Given the description of an element on the screen output the (x, y) to click on. 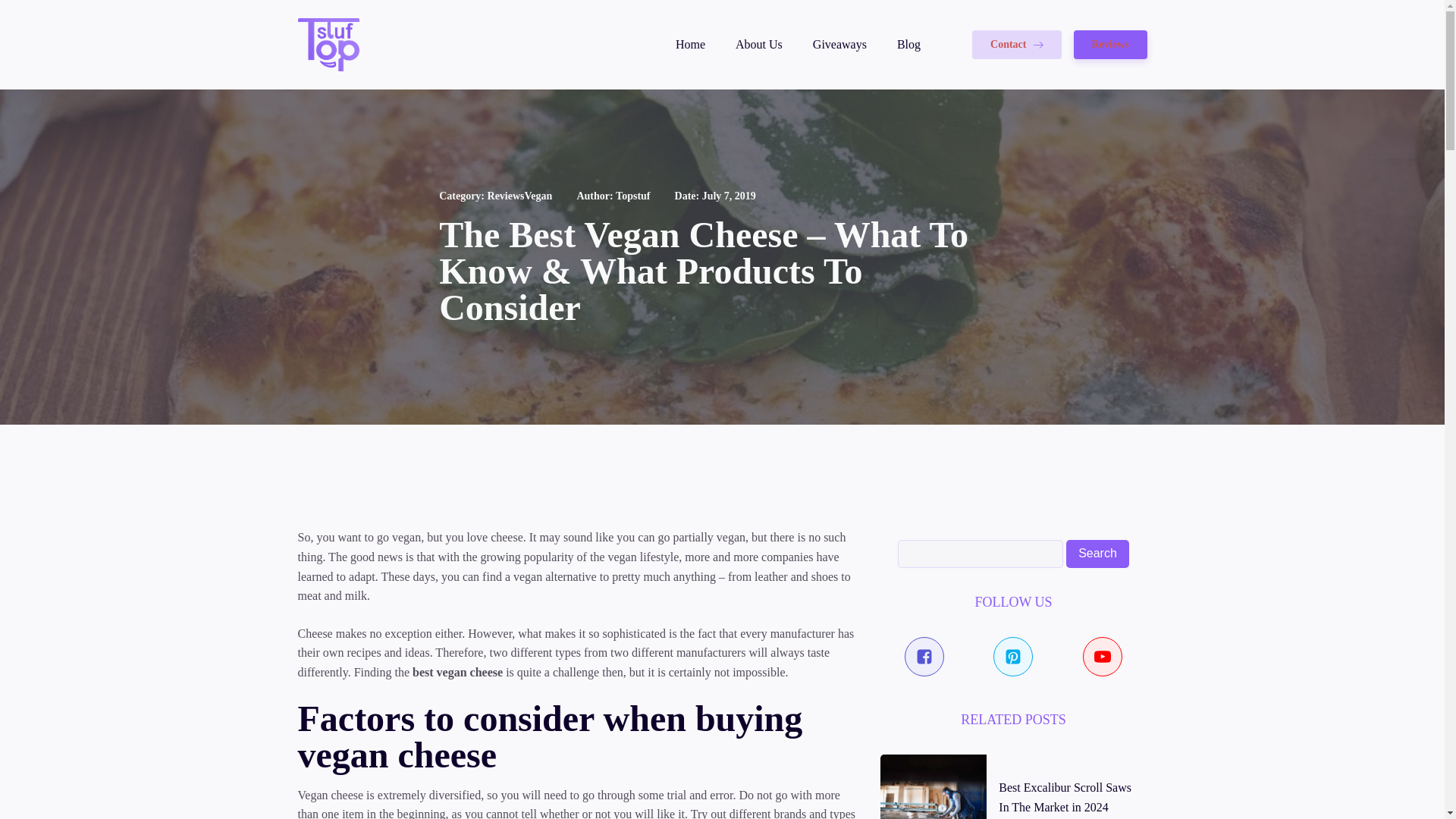
About Us (759, 44)
Reviews (505, 195)
Vegan (538, 195)
Search (1097, 553)
Search (1097, 553)
Contact (1016, 44)
Best Excalibur Scroll Saws In The Market in 2024 (1064, 797)
Reviews (1110, 44)
Giveaways (839, 44)
